Given the description of an element on the screen output the (x, y) to click on. 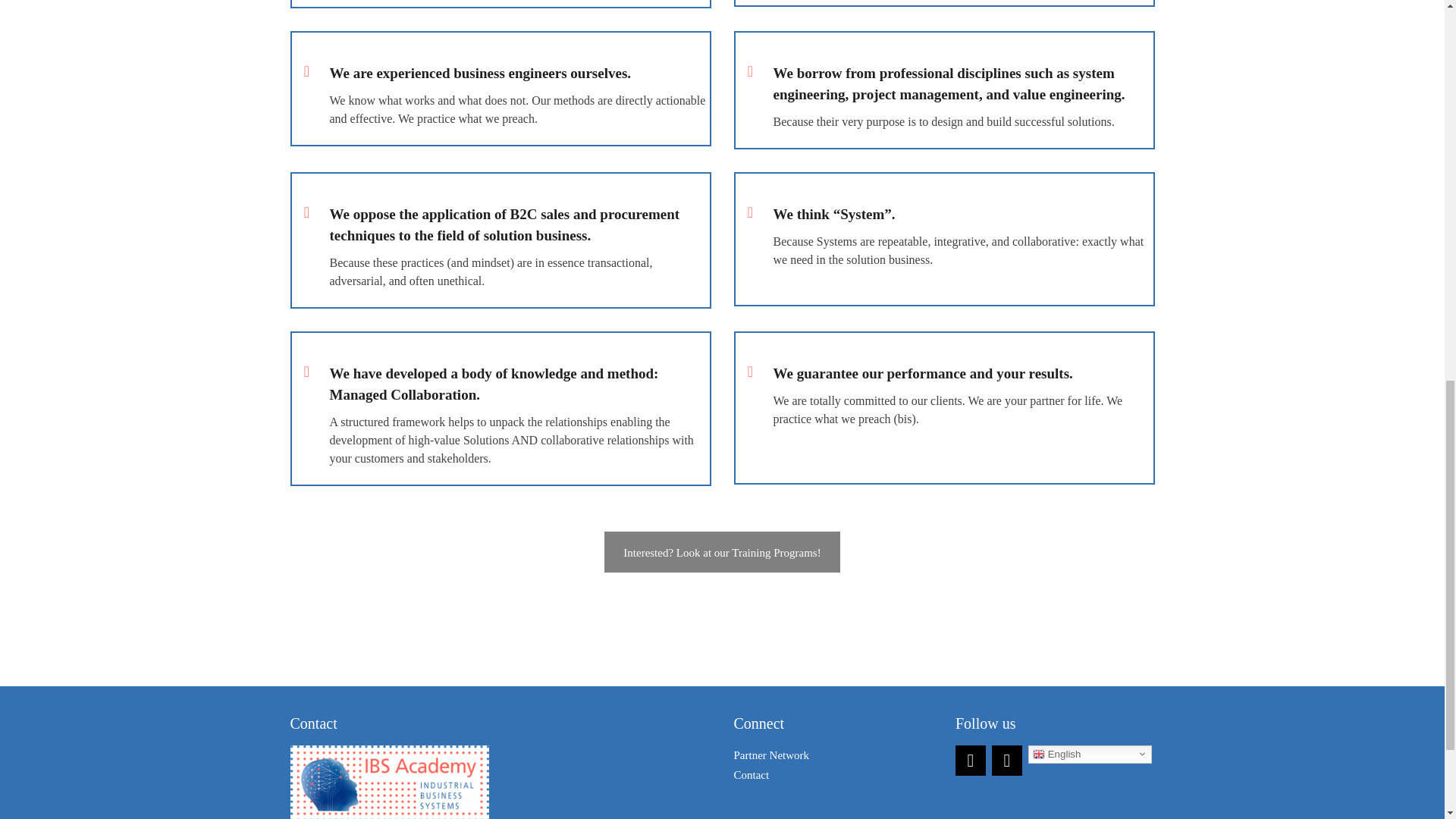
Partner Network (771, 755)
Interested? Look at our Training Programs! (722, 551)
